Given the description of an element on the screen output the (x, y) to click on. 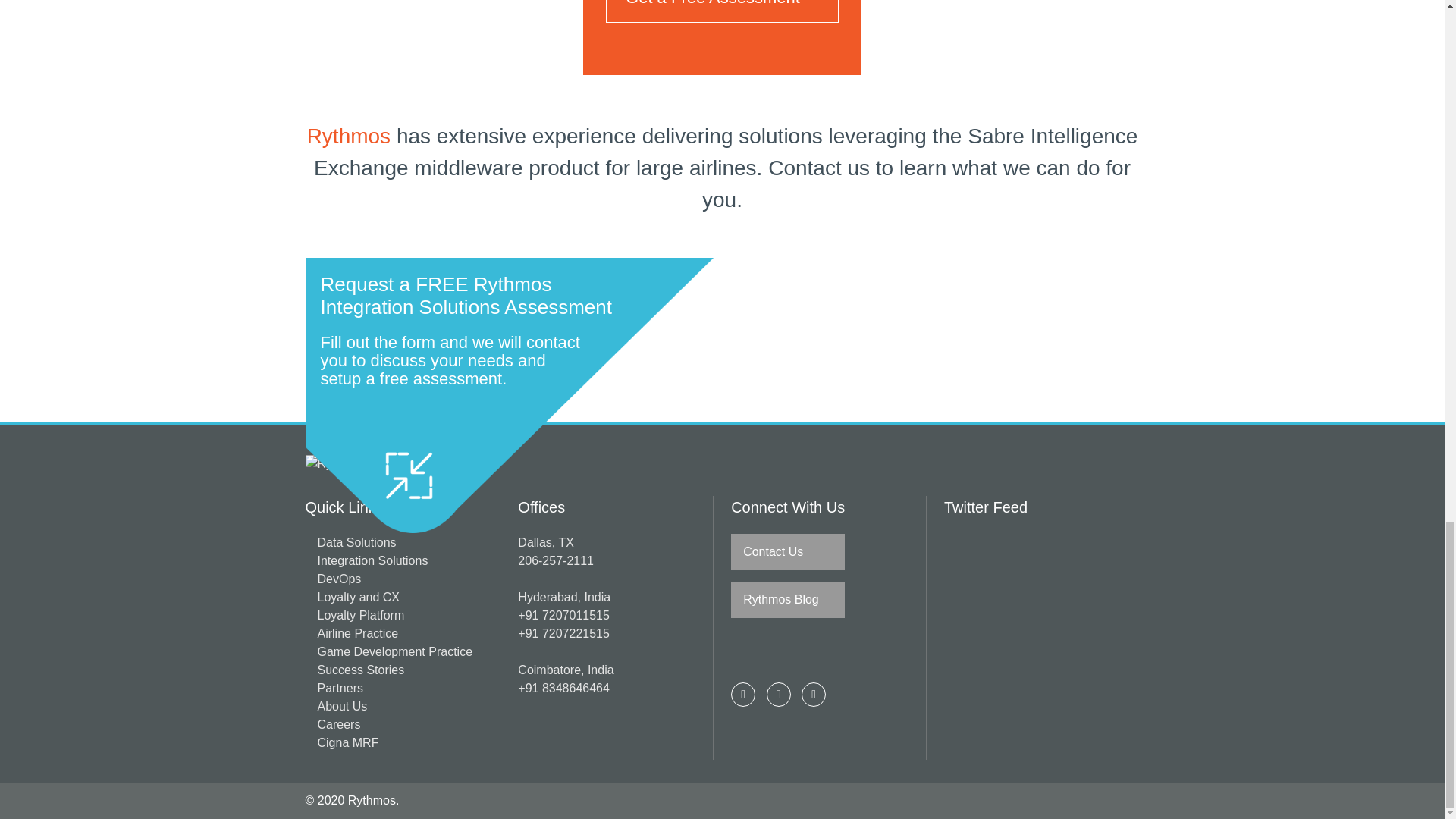
Rythmos (334, 464)
Get a Free Assessment (721, 11)
Loyalty and CX (357, 596)
DevOps (339, 578)
Data Solutions (356, 542)
Integration Solutions (372, 560)
Loyalty Platform (360, 615)
